Given the description of an element on the screen output the (x, y) to click on. 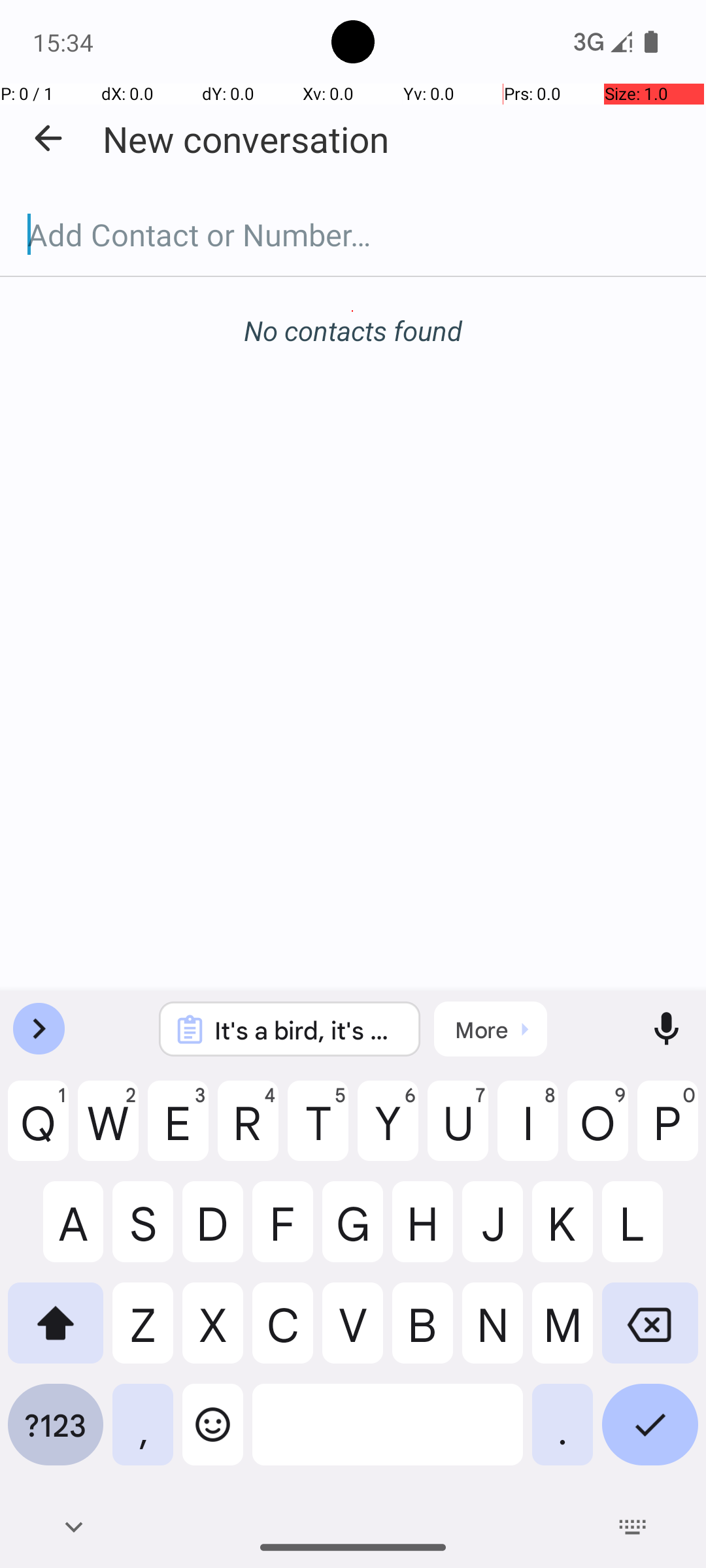
No contacts found Element type: android.widget.TextView (353, 329)
